Given the description of an element on the screen output the (x, y) to click on. 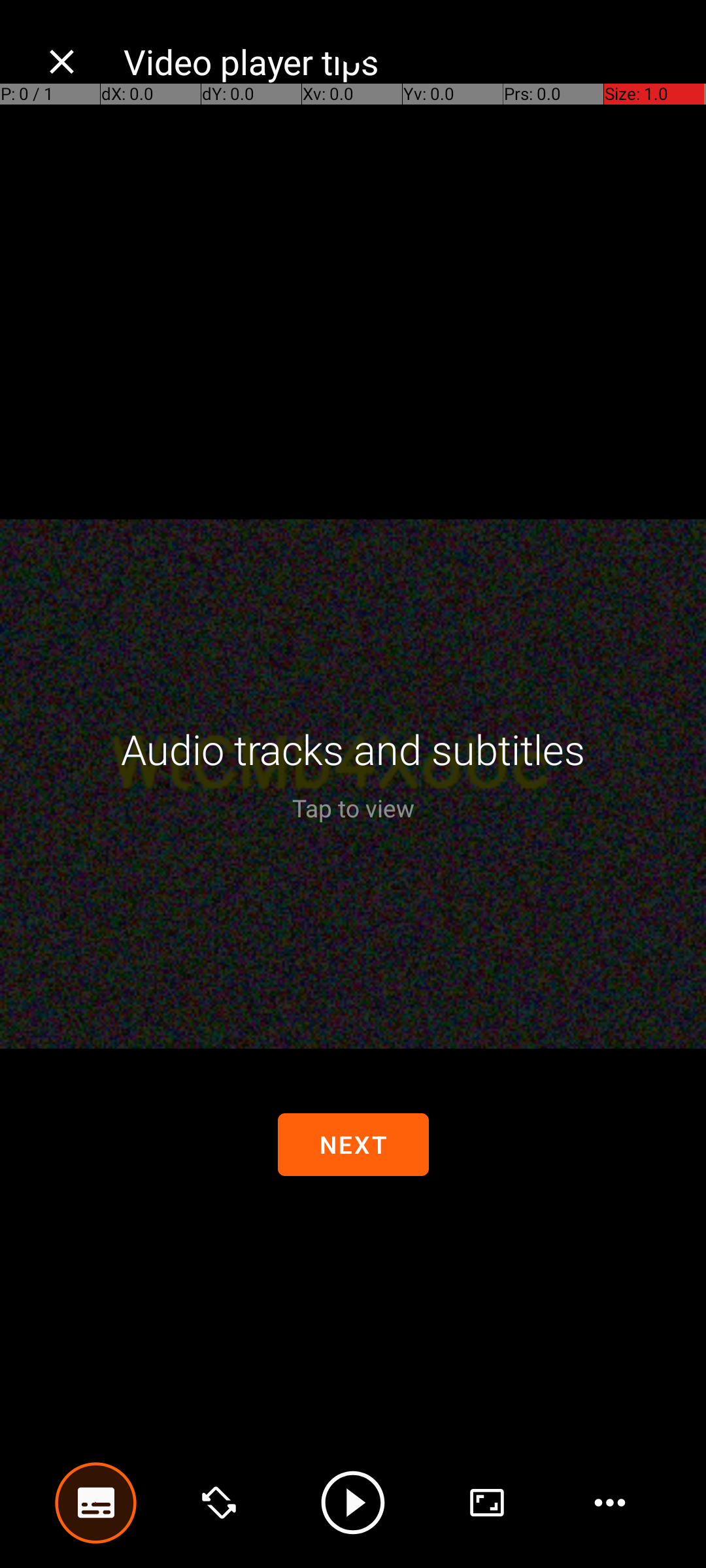
Video player. Tap to show controls. Tap the back button to hide them Element type: android.widget.FrameLayout (353, 784)
Video player tips Element type: android.widget.TextView (400, 61)
Audio tracks and subtitles Element type: android.widget.TextView (352, 748)
Tap to view Element type: android.widget.TextView (353, 807)
advanced options Element type: android.widget.ImageView (486, 1502)
